Given the description of an element on the screen output the (x, y) to click on. 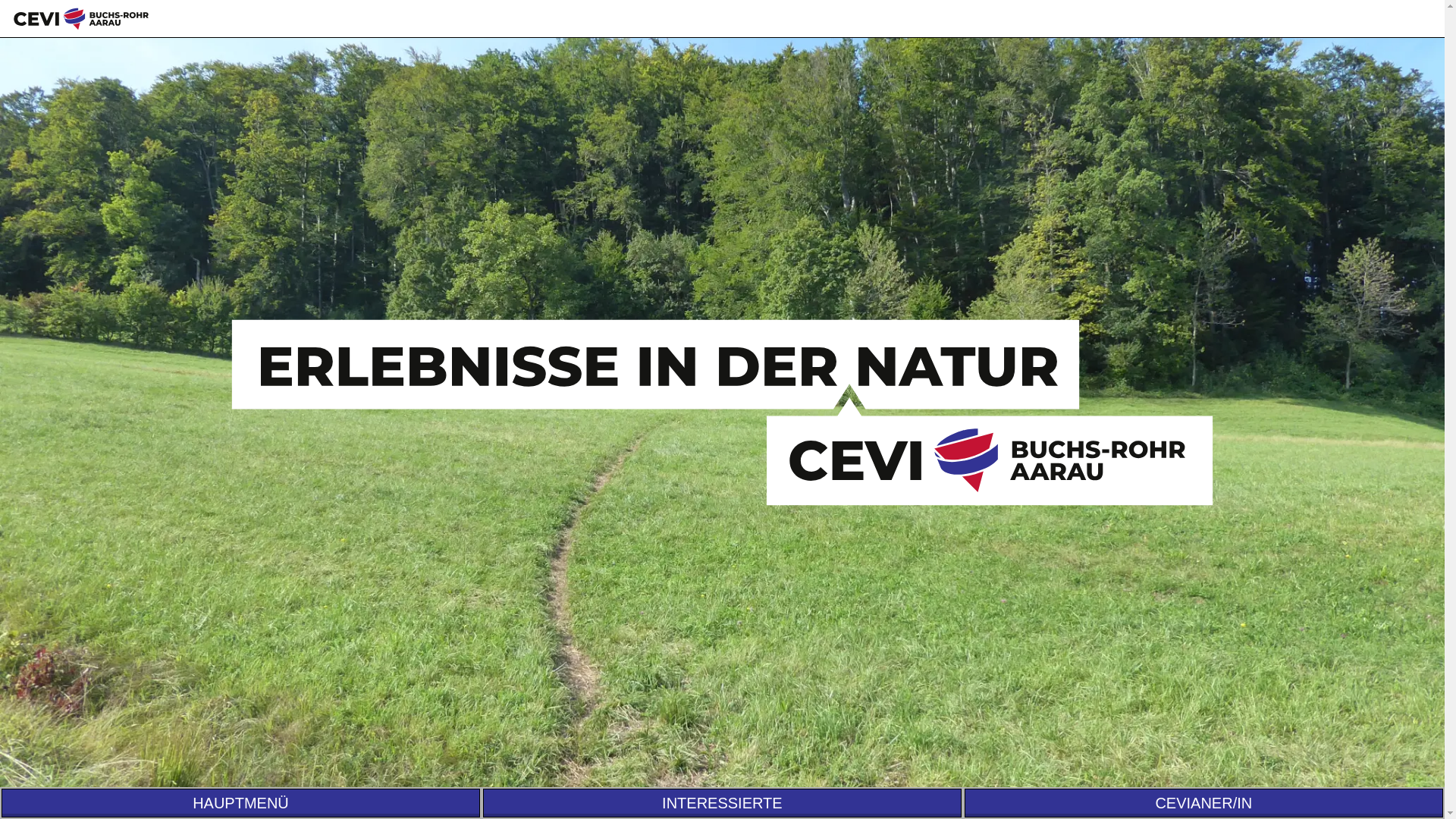
CEVIANER/IN Element type: text (1203, 802)
INTERESSIERTE Element type: text (722, 802)
